Given the description of an element on the screen output the (x, y) to click on. 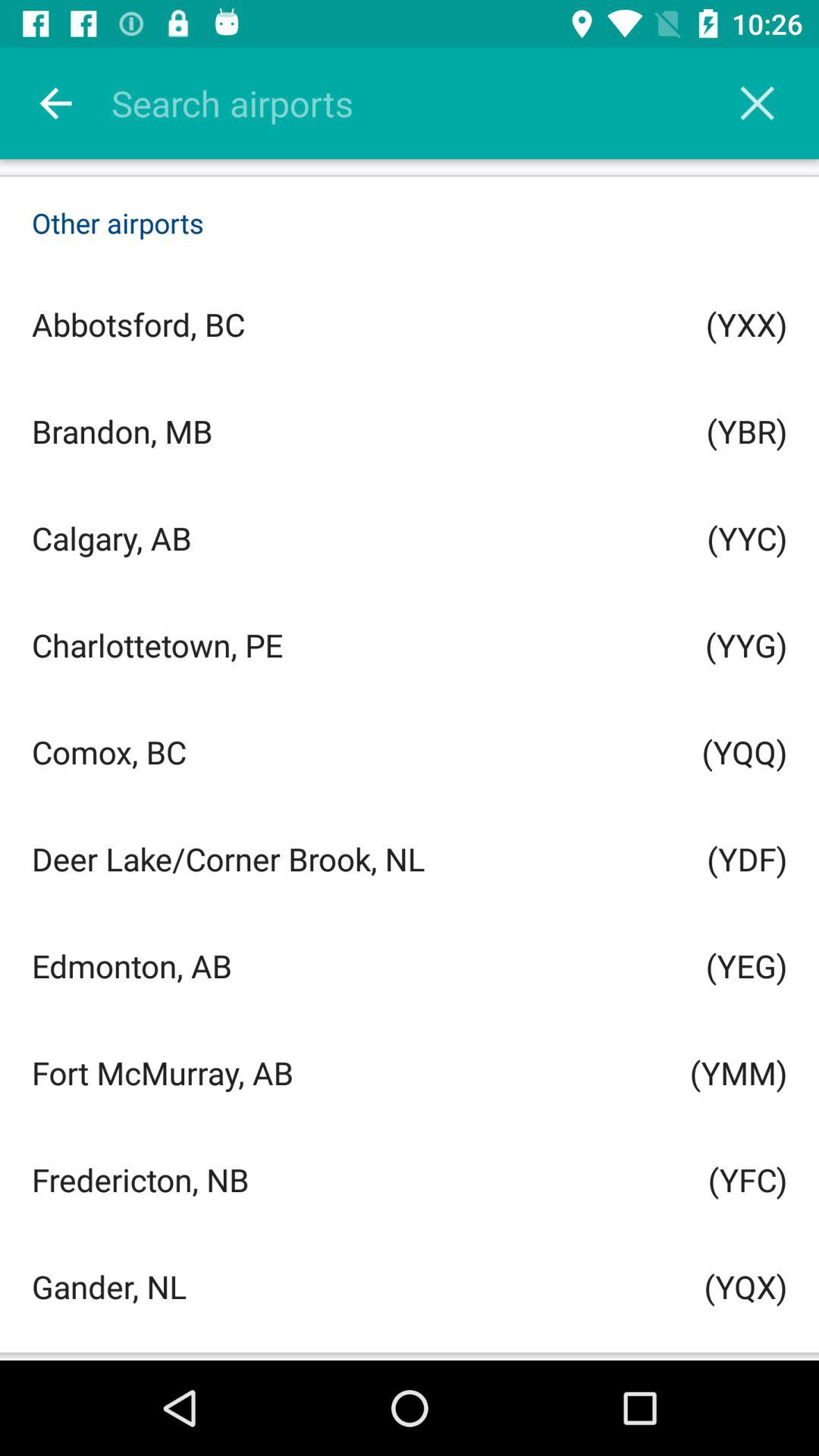
search places (429, 103)
